Given the description of an element on the screen output the (x, y) to click on. 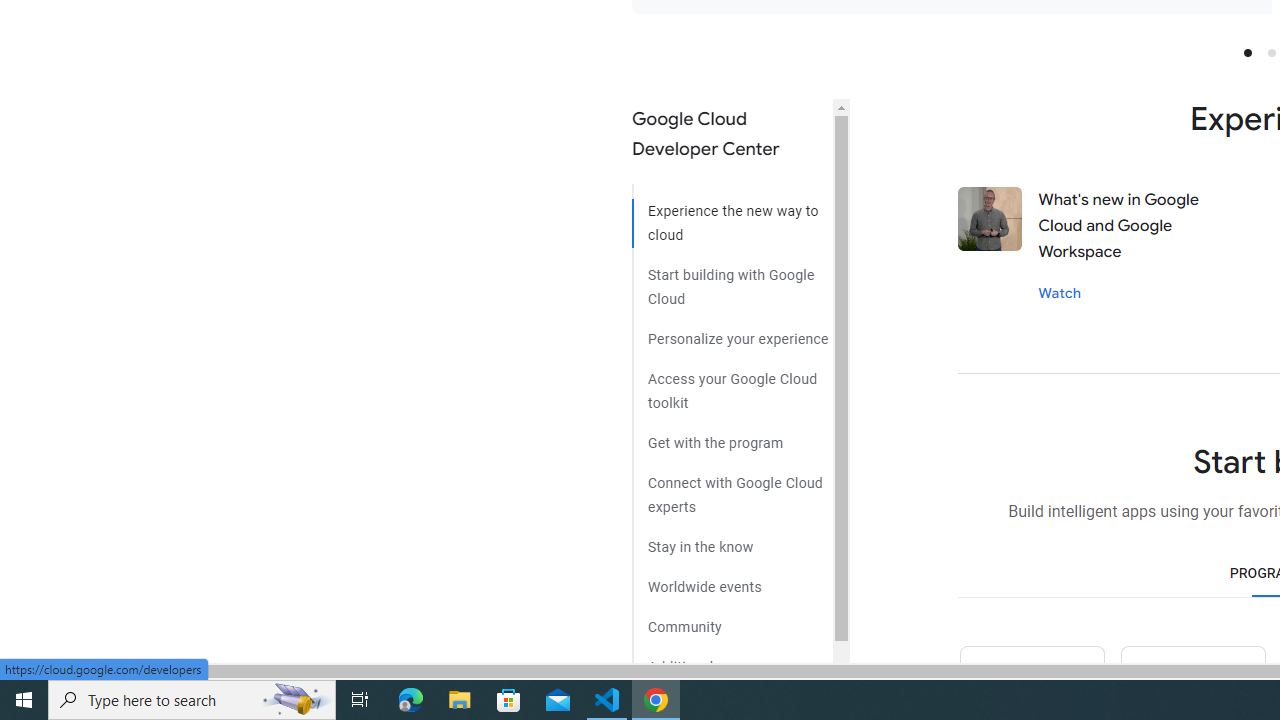
Slide 2 (1271, 52)
